Given the description of an element on the screen output the (x, y) to click on. 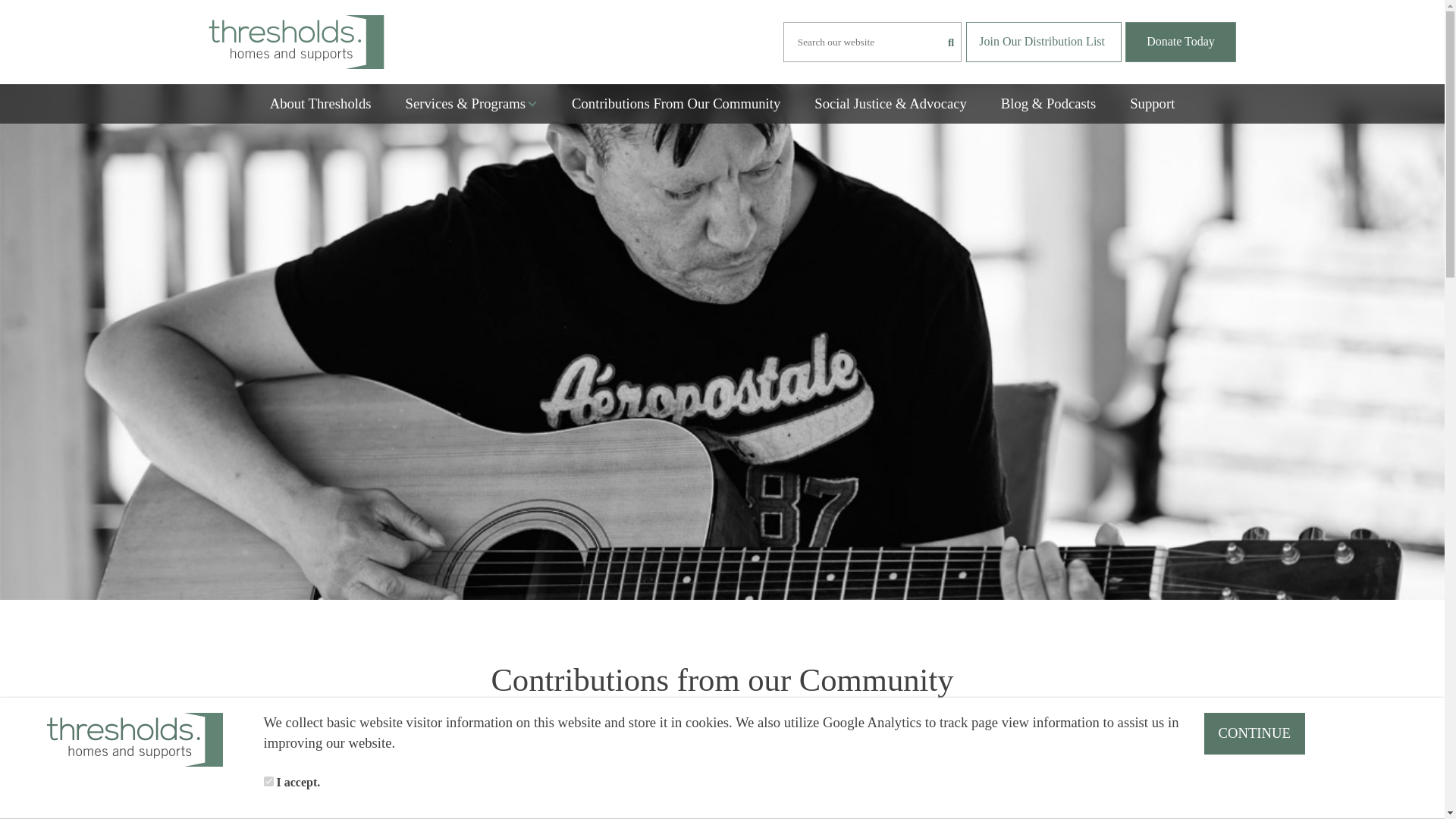
1 (268, 781)
Donate Today (1180, 42)
Contributions From Our Community (676, 103)
Join Our Distribution List (1043, 42)
Support (1151, 103)
Thresholds Homes and Supports (296, 41)
About Thresholds (320, 103)
CONTINUE (1254, 733)
Enter search term (871, 42)
